Given the description of an element on the screen output the (x, y) to click on. 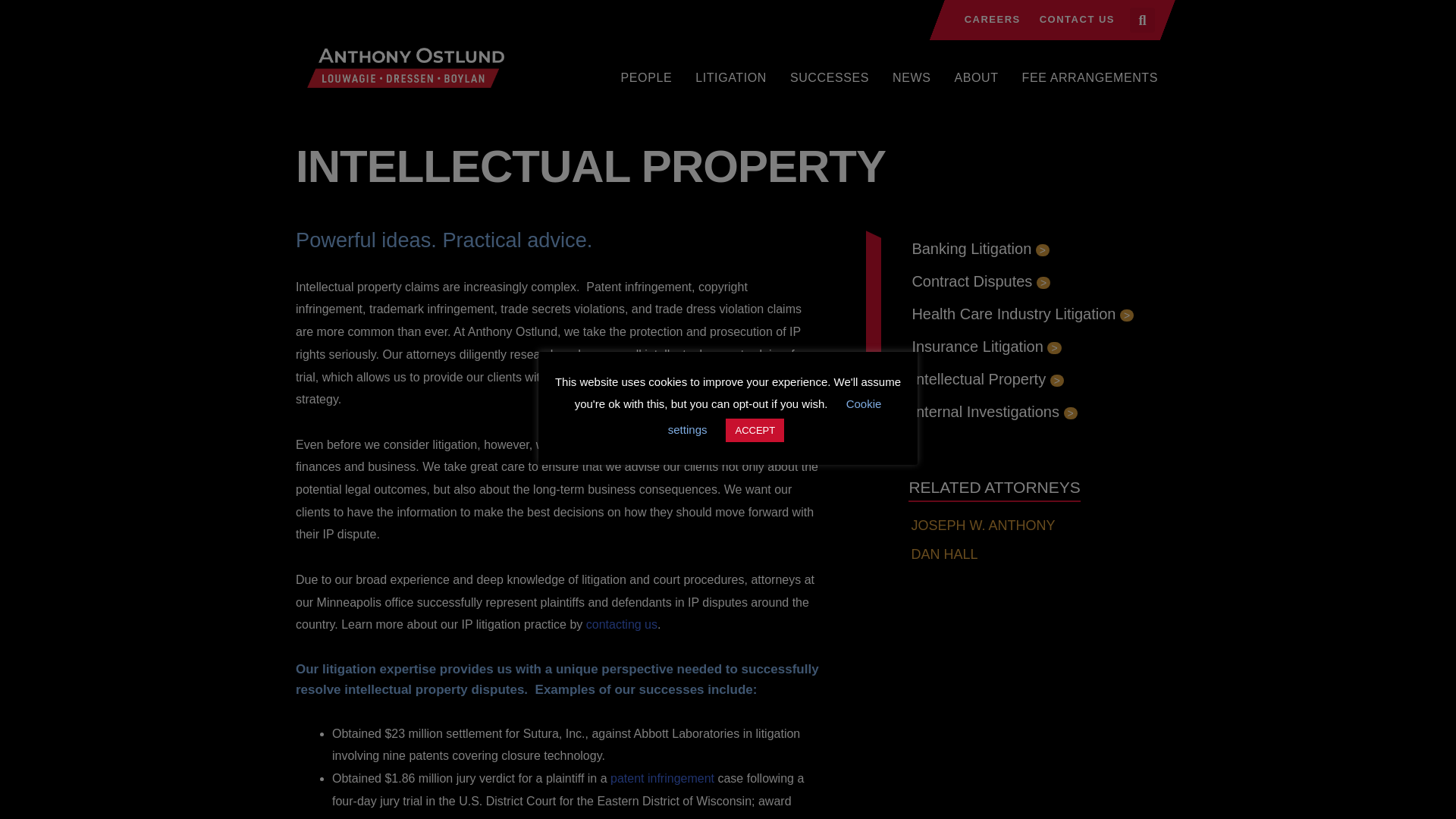
patent infringement (662, 778)
NEWS (911, 77)
SUCCESSES (828, 77)
LITIGATION (730, 77)
ABOUT (976, 77)
contacting us (622, 624)
CONTACT US (1075, 19)
Contract Disputes (980, 280)
FEE ARRANGEMENTS (1090, 77)
PEOPLE (646, 77)
